Given the description of an element on the screen output the (x, y) to click on. 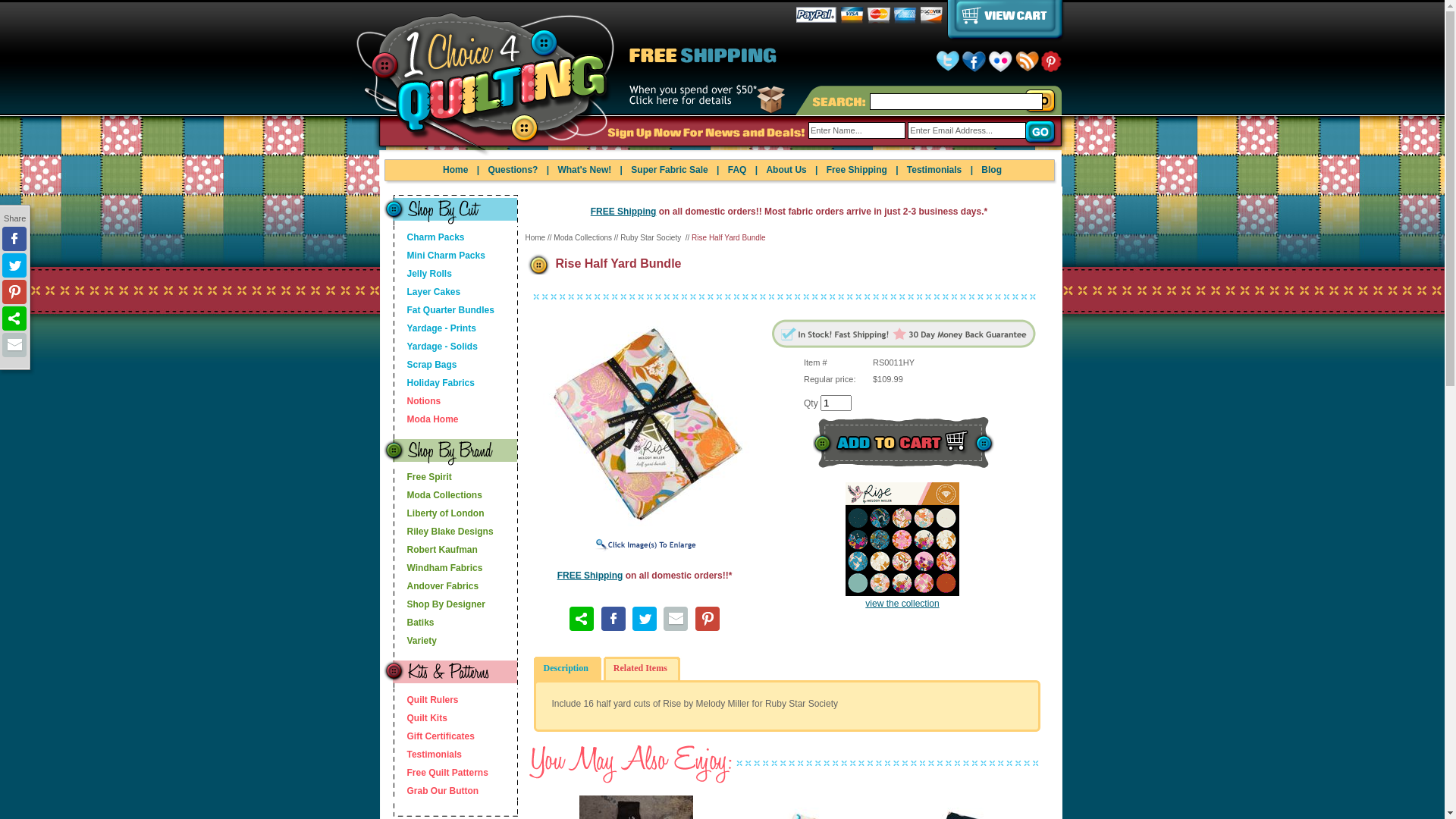
Free Shipping Element type: text (856, 169)
About Us Element type: text (785, 169)
Holiday Fabrics Element type: text (435, 382)
Testimonials Element type: text (435, 754)
Variety Element type: text (435, 640)
FREE Shipping Element type: text (590, 575)
FAQ Element type: text (737, 169)
Layer Cakes Element type: text (435, 291)
Quilt Rulers Element type: text (435, 699)
Fat Quarter Bundles Element type: text (435, 310)
view the collection Element type: text (902, 597)
Related Items Element type: text (641, 667)
Liberty of London Element type: text (435, 513)
What's New! Element type: text (584, 169)
Moda Collections Element type: text (435, 495)
Moda Home Element type: text (435, 419)
Yardage - Solids Element type: text (435, 346)
Yardage - Prints Element type: text (435, 328)
Scrap Bags Element type: text (435, 364)
Quilt Kits Element type: text (435, 718)
Home Element type: text (534, 237)
Home Element type: text (454, 169)
Mini Charm Packs Element type: text (435, 255)
Shop By Designer Element type: text (435, 604)
Moda Collections Element type: text (582, 237)
Free Quilt Patterns Element type: text (435, 772)
Andover Fabrics Element type: text (435, 586)
Gift Certificates Element type: text (435, 736)
Free Spirit Element type: text (435, 476)
Riley Blake Designs Element type: text (435, 531)
Robert Kaufman Element type: text (435, 549)
Description Element type: text (567, 667)
Testimonials Element type: text (933, 169)
Batiks Element type: text (435, 622)
FREE Shipping Element type: text (623, 211)
Notions Element type: text (435, 401)
Questions? Element type: text (512, 169)
Grab Our Button Element type: text (435, 790)
Blog Element type: text (991, 169)
Super Fabric Sale Element type: text (668, 169)
Jelly Rolls Element type: text (435, 273)
Charm Packs Element type: text (435, 237)
Ruby Star Society Element type: text (651, 237)
Windham Fabrics Element type: text (435, 567)
